Given the description of an element on the screen output the (x, y) to click on. 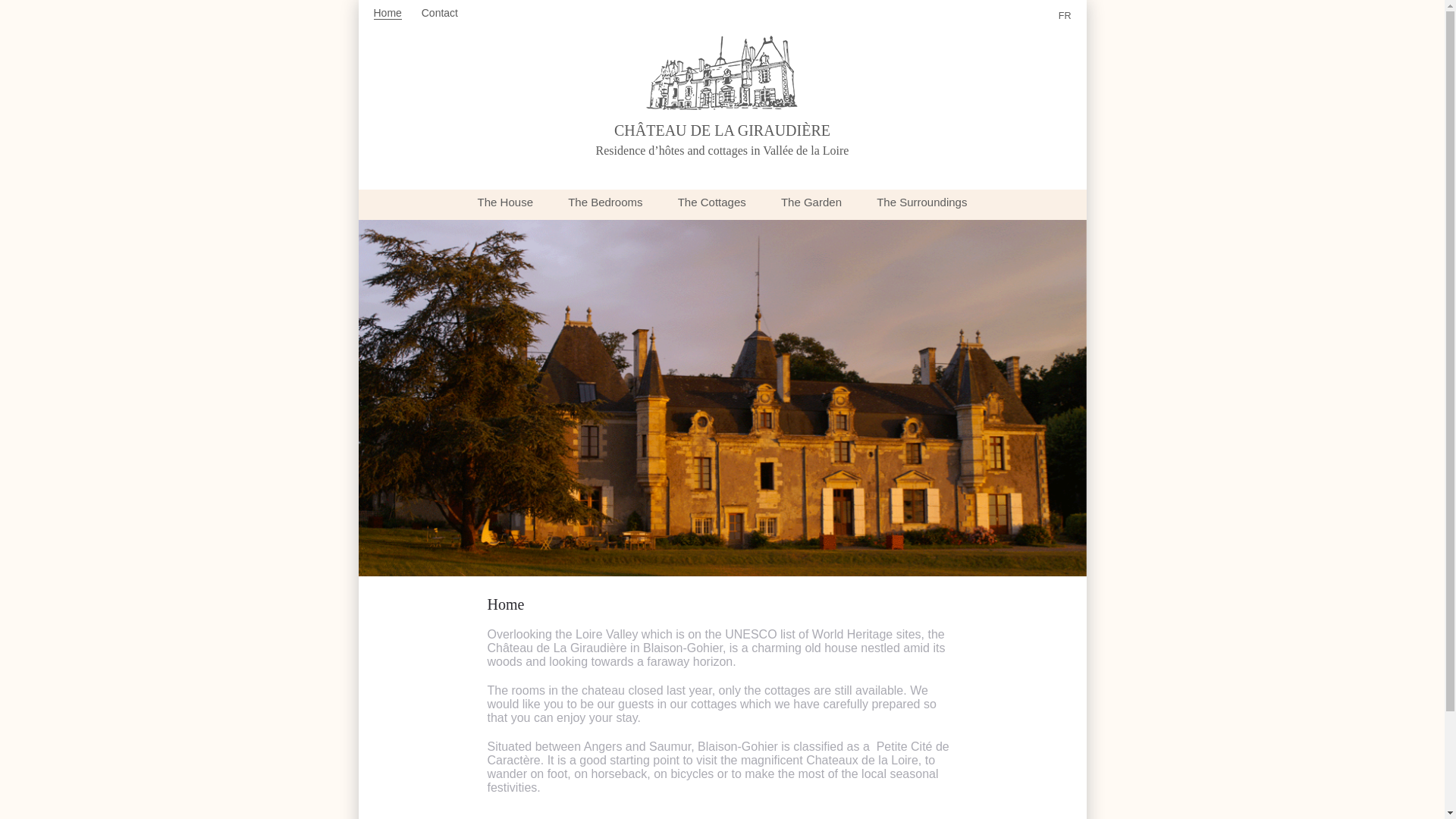
The House (504, 201)
Contact (440, 12)
The Cottages (711, 201)
Home (386, 12)
The Surroundings (921, 201)
FR (1064, 15)
The Garden (810, 201)
The Bedrooms (604, 201)
